Given the description of an element on the screen output the (x, y) to click on. 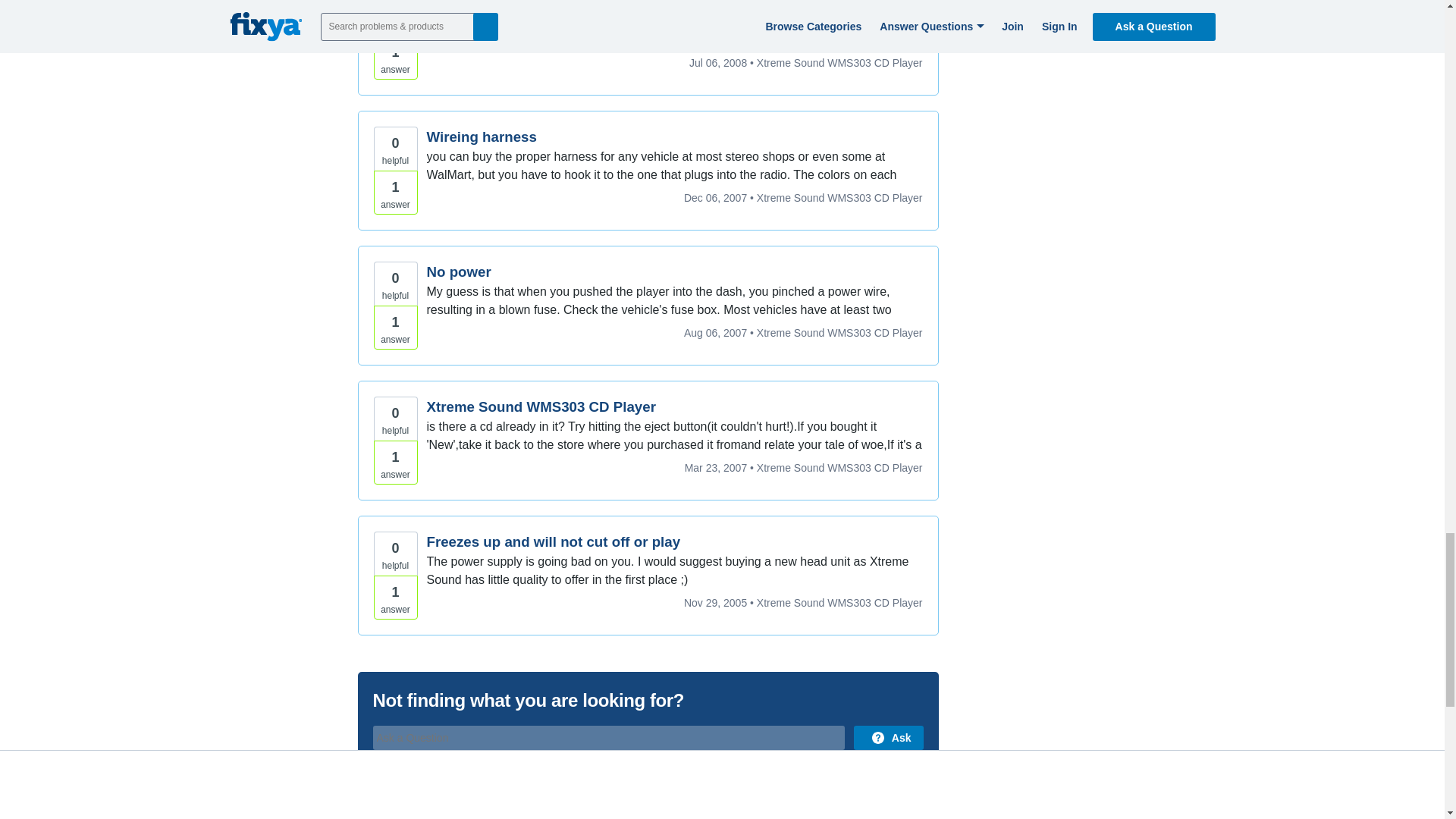
Ask (888, 737)
